Given the description of an element on the screen output the (x, y) to click on. 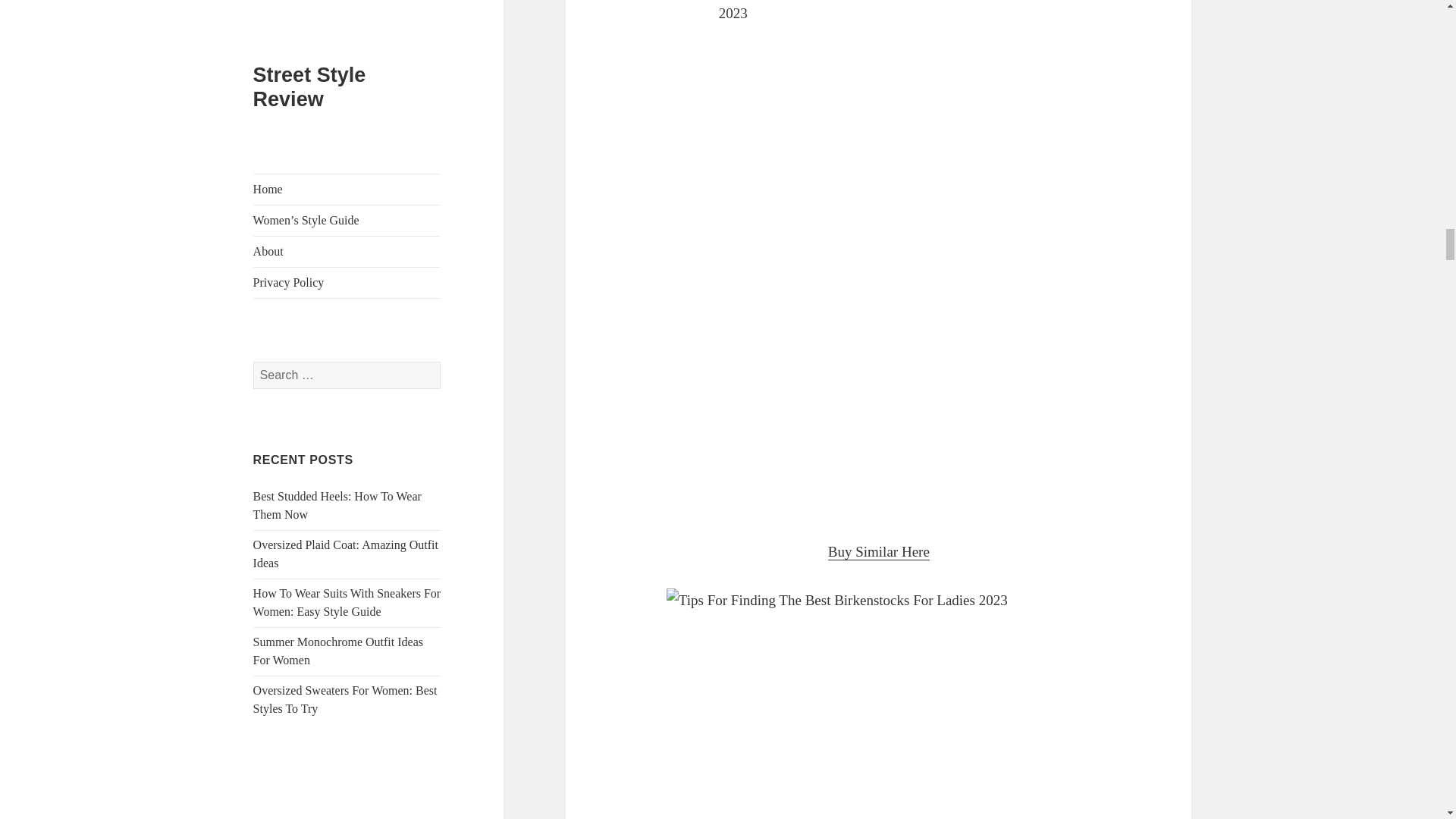
Buy Similar Here (879, 551)
Tips For Finding The Best Birkenstocks For Ladies 2023 (878, 703)
